Given the description of an element on the screen output the (x, y) to click on. 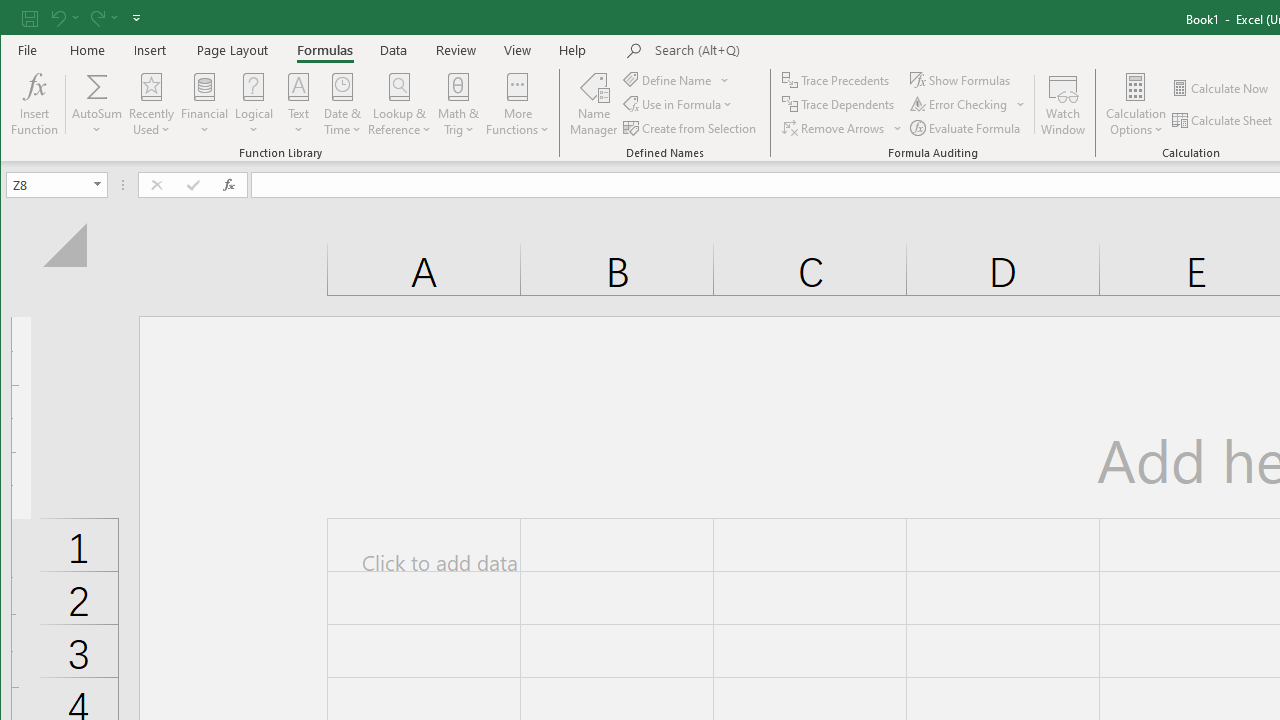
Use in Formula (678, 103)
More Functions (517, 104)
Evaluate Formula (966, 127)
